Given the description of an element on the screen output the (x, y) to click on. 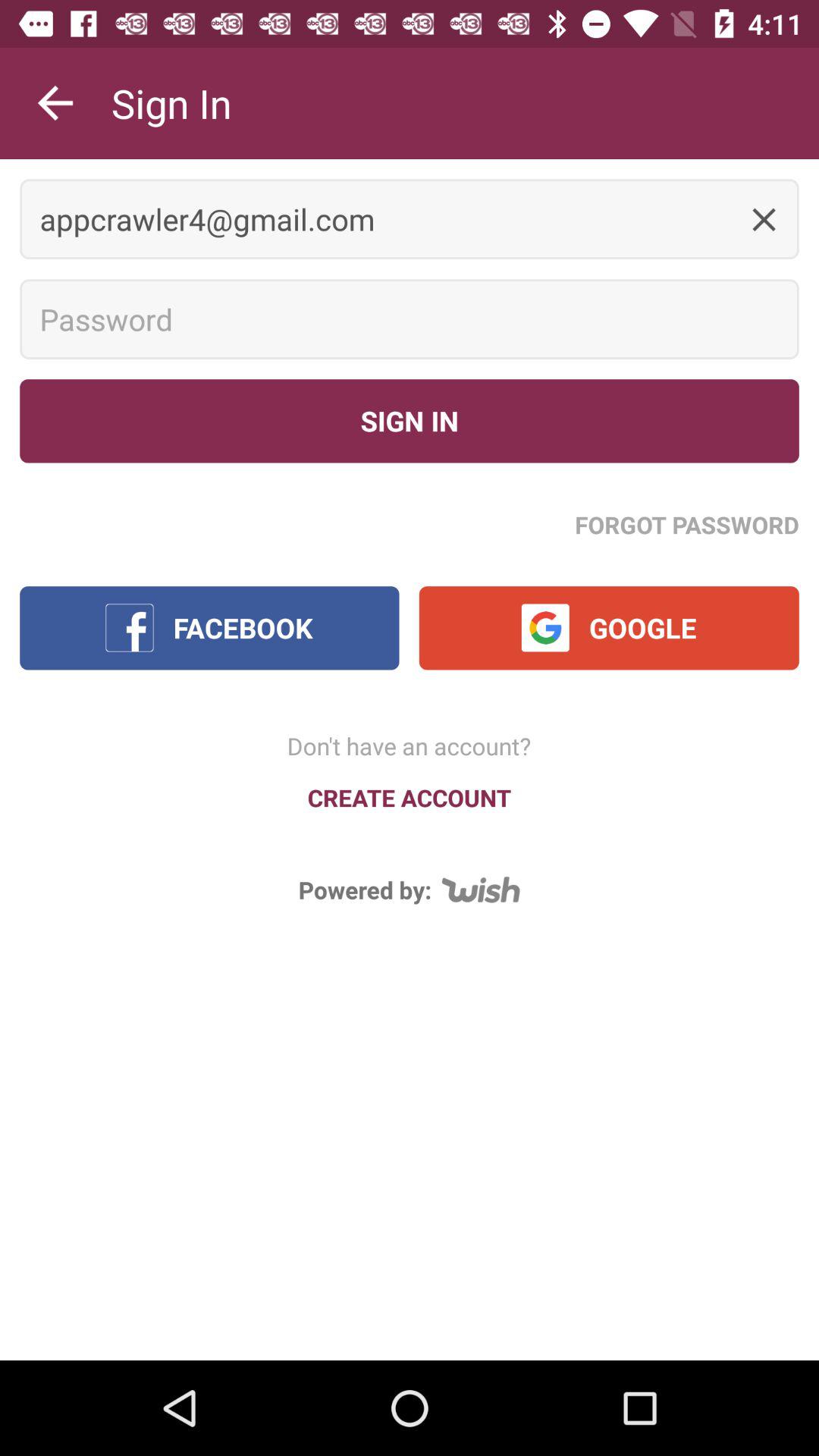
choose create account icon (409, 797)
